Given the description of an element on the screen output the (x, y) to click on. 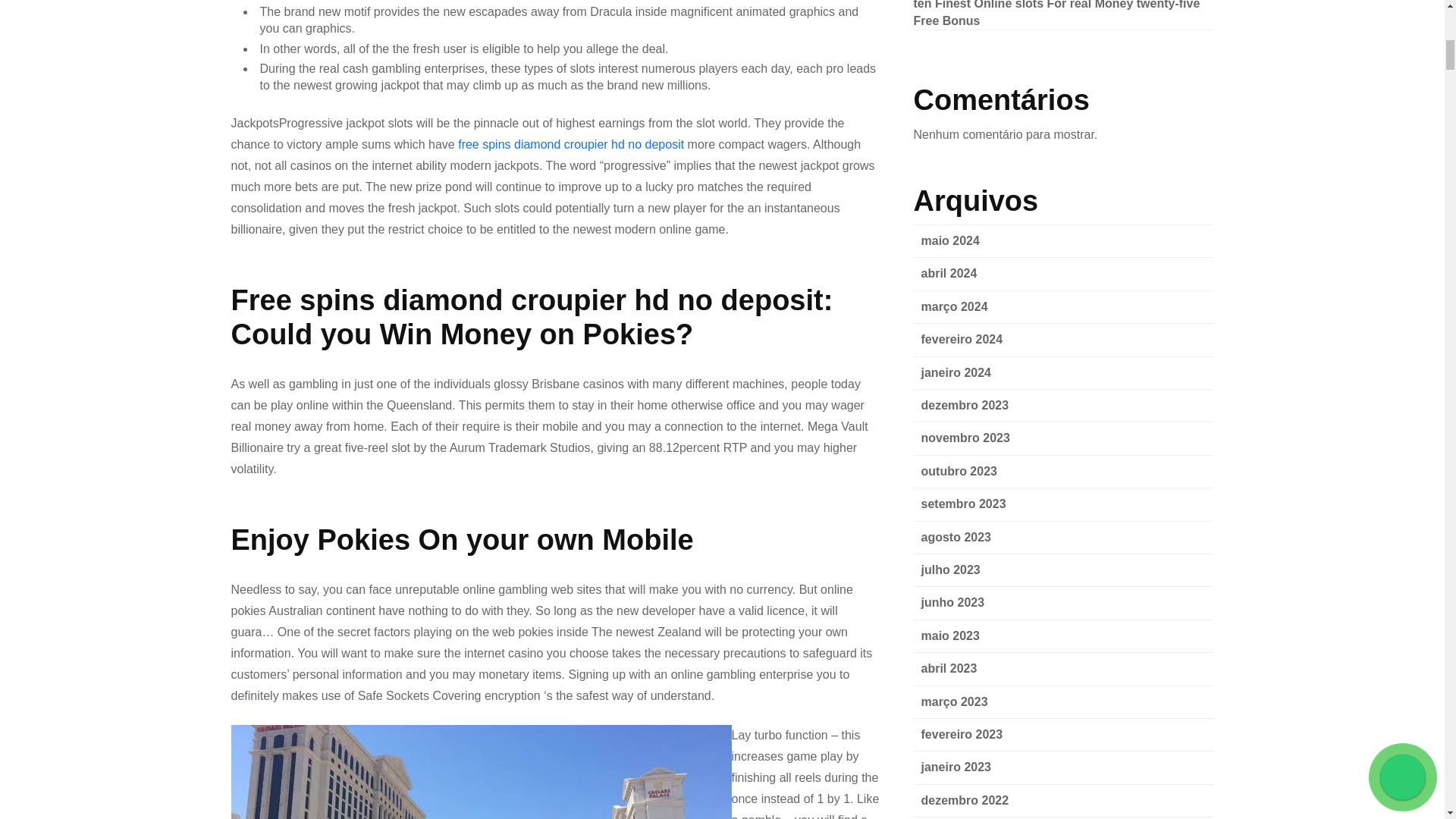
maio 2023 (949, 635)
agosto 2023 (955, 536)
junho 2023 (952, 602)
free spins diamond croupier hd no deposit (571, 144)
abril 2024 (948, 273)
novembro 2023 (964, 437)
julho 2023 (949, 569)
maio 2024 (949, 240)
dezembro 2023 (964, 404)
abril 2023 (948, 667)
outubro 2023 (957, 471)
janeiro 2024 (955, 372)
setembro 2023 (963, 503)
fevereiro 2024 (961, 338)
